Given the description of an element on the screen output the (x, y) to click on. 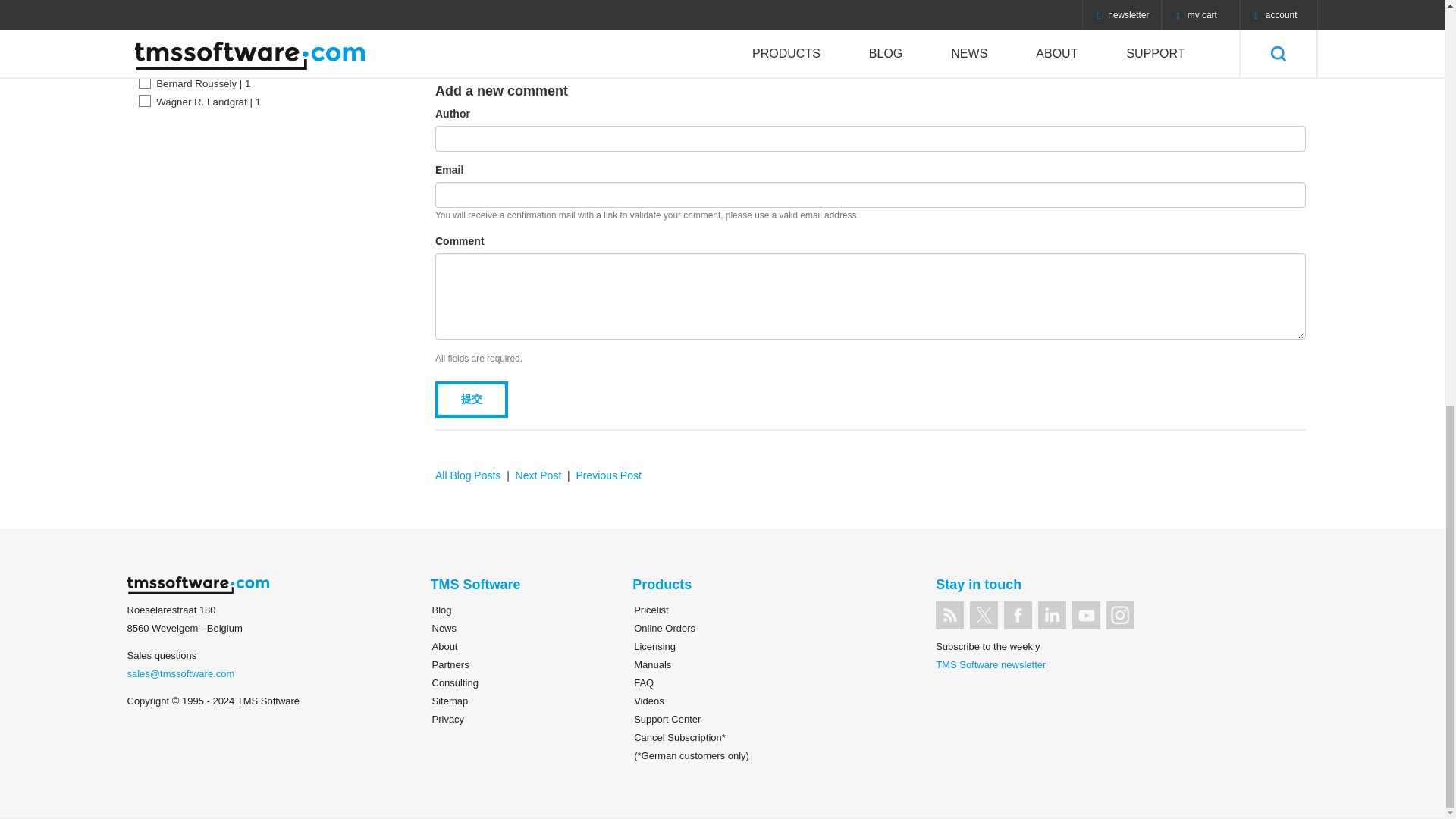
LinkedIn (1051, 615)
Instagram (1120, 615)
YouTube (1085, 615)
RSS Feed (949, 615)
Twitter (983, 615)
Mail us (181, 673)
Facebook (1018, 615)
